Given the description of an element on the screen output the (x, y) to click on. 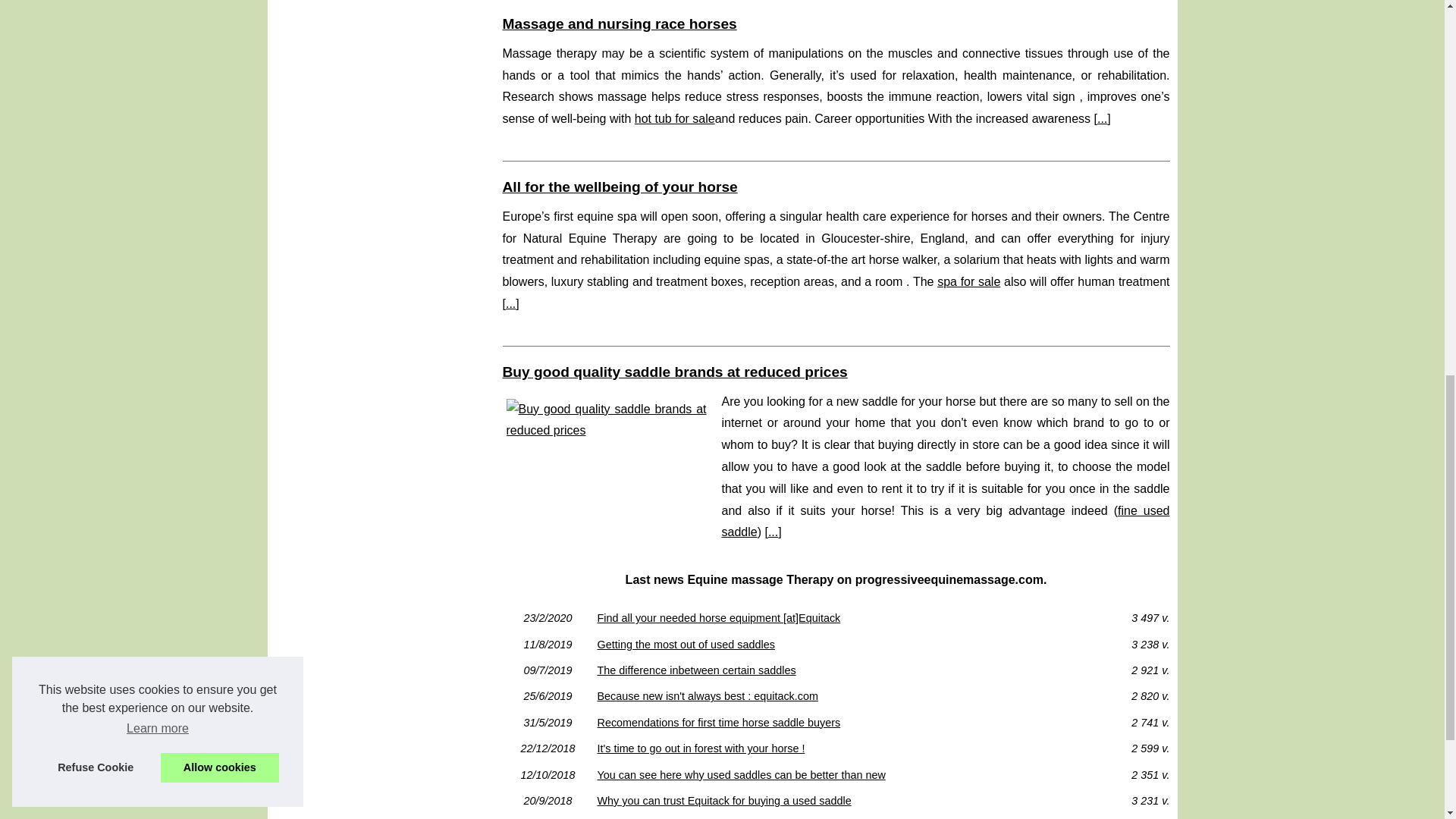
fine used saddle (946, 521)
Because new isn't always best : equitack.com (835, 696)
spa for sale (968, 281)
Recomendations for first time horse saddle buyers (835, 722)
Getting the most out of used saddles (835, 644)
Massage and nursing race horses (619, 23)
hot tub for sale (674, 118)
The difference inbetween certain saddles (835, 670)
Recomendations for first time horse saddle buyers (835, 722)
All for the wellbeing of your horse (619, 186)
